Given the description of an element on the screen output the (x, y) to click on. 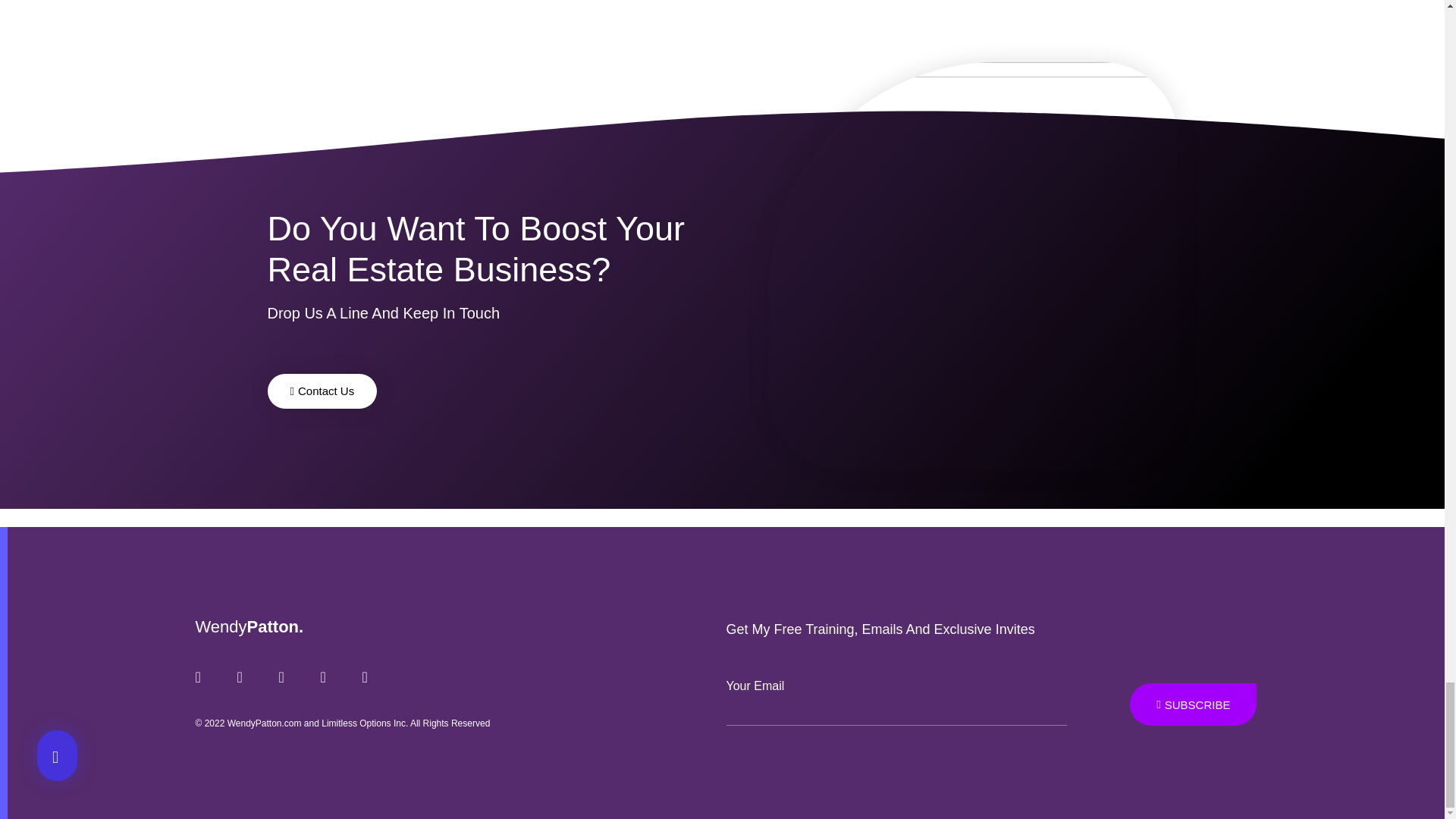
SUBSCRIBE (1192, 704)
Contact Us (321, 390)
WendyPatton. (249, 626)
